Given the description of an element on the screen output the (x, y) to click on. 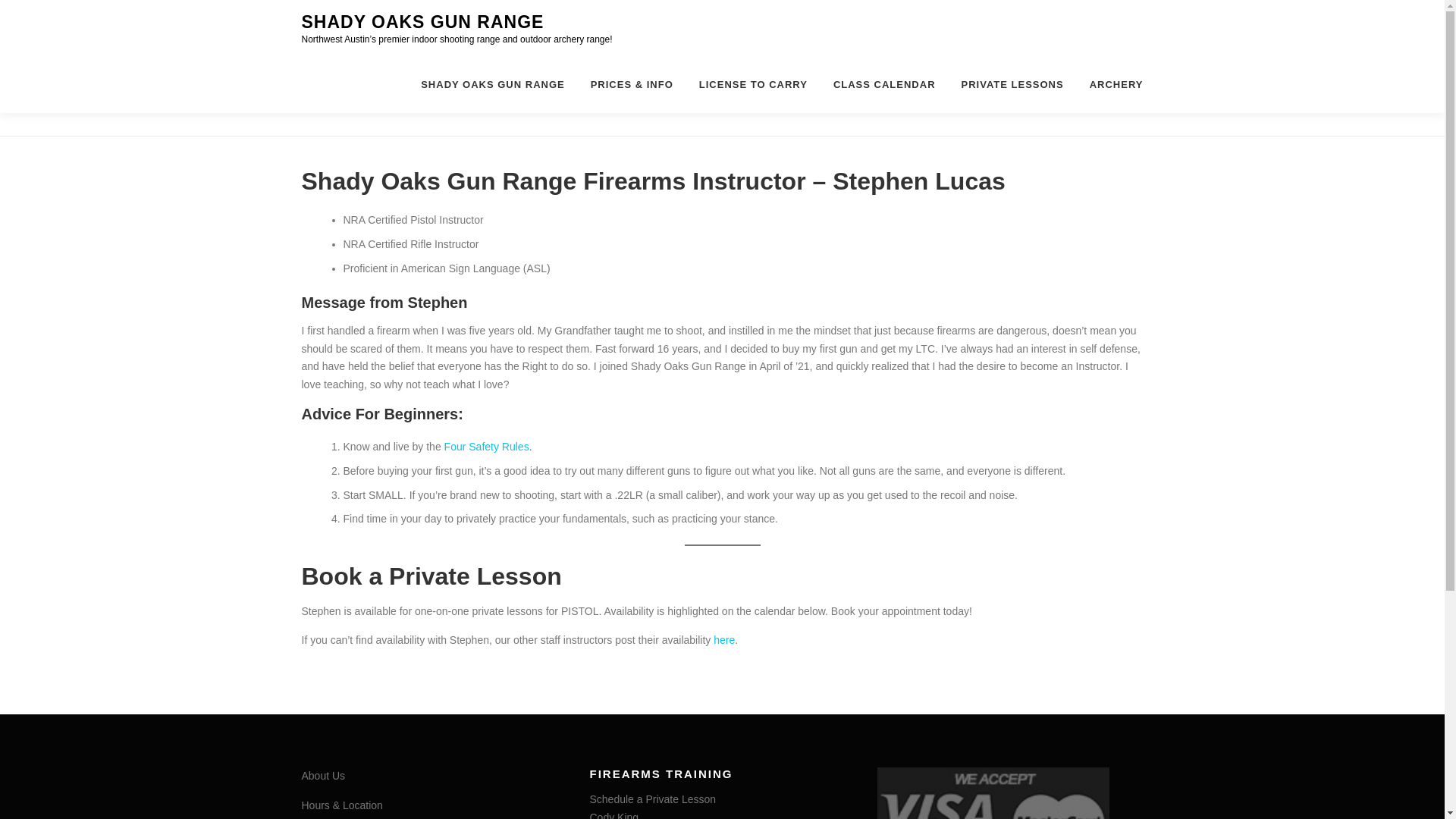
here (724, 639)
Events (885, 84)
PRIVATE LESSONS (1013, 84)
Four Safety Rules (486, 446)
About Us (323, 775)
About Us (323, 775)
Cody King (614, 815)
CLASS CALENDAR (885, 84)
Schedule a Private Lesson (652, 799)
SHADY OAKS GUN RANGE (492, 84)
